Given the description of an element on the screen output the (x, y) to click on. 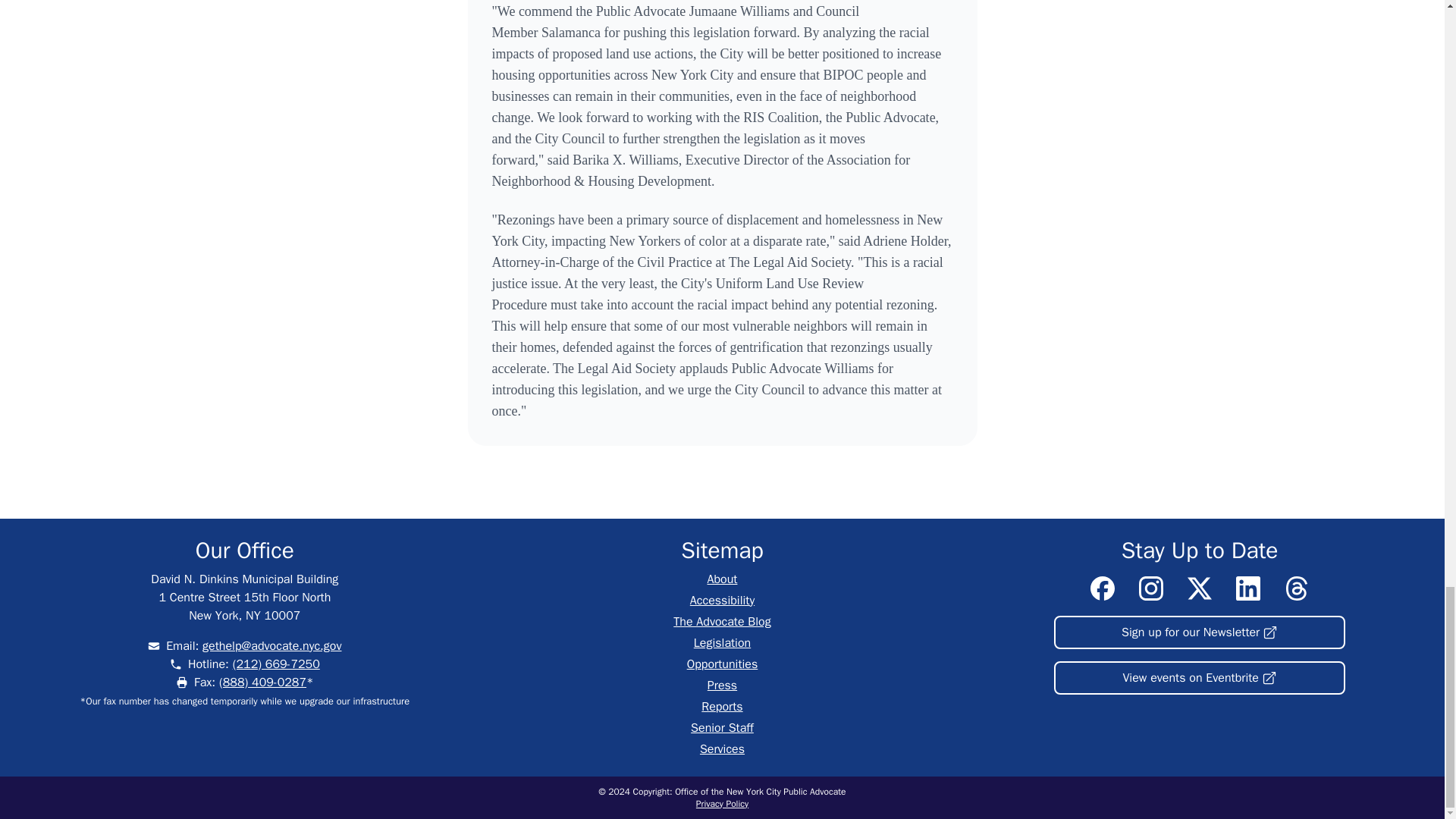
View events on Eventbrite (1199, 677)
Sign up for our Newsletter (1199, 632)
The Advocate Blog (721, 621)
Press (721, 685)
Opportunities (722, 663)
Legislation (722, 642)
Accessibility (722, 600)
Services (722, 749)
Senior Staff (722, 727)
Privacy Policy (721, 803)
Reports (721, 706)
About (722, 579)
